Given the description of an element on the screen output the (x, y) to click on. 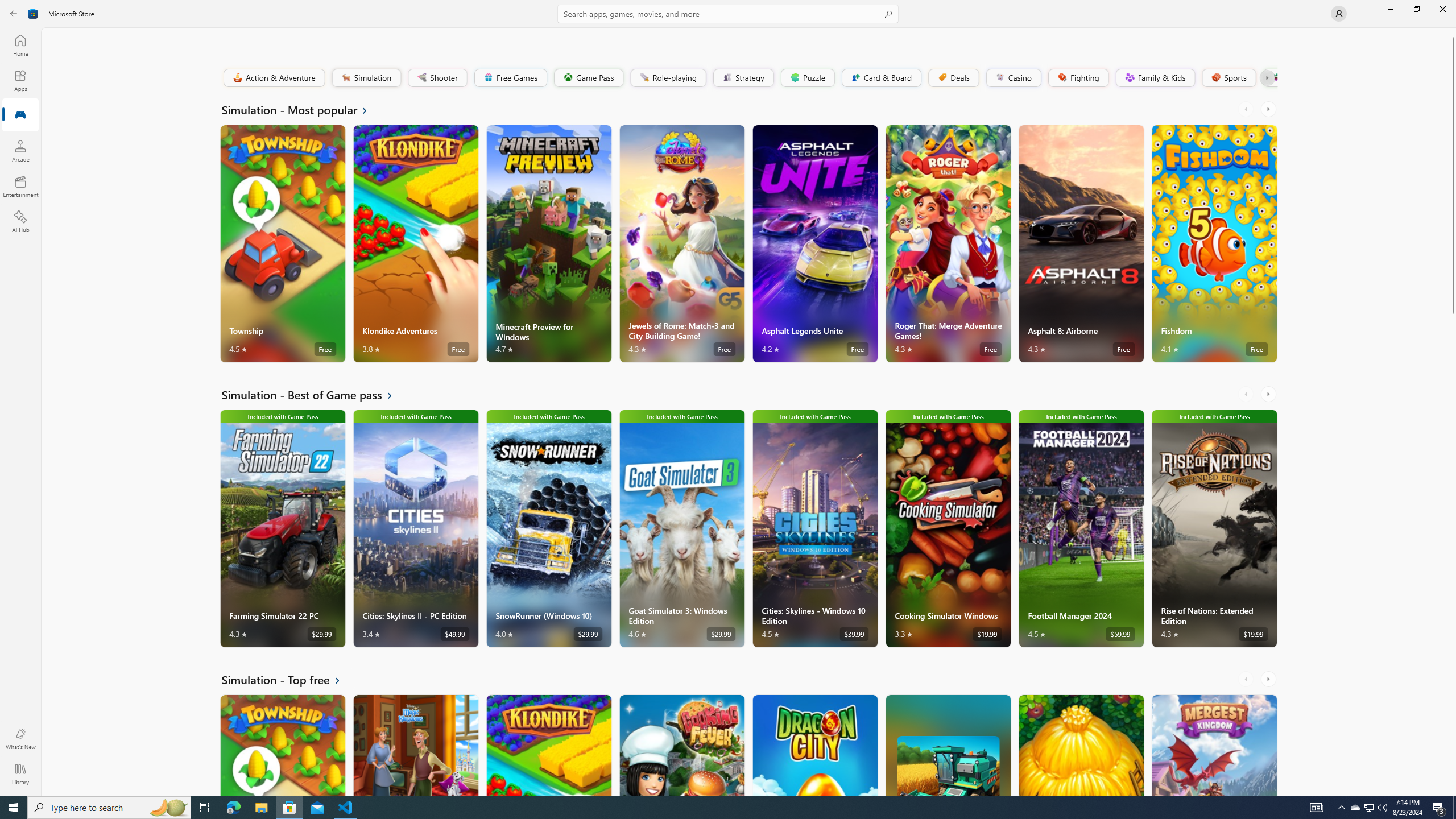
Library (20, 773)
Shooter (436, 77)
Entertainment (20, 185)
See all  Simulation - Best of Game pass (313, 394)
Arcade (20, 150)
See all  Simulation - Top free (287, 679)
Sports (1228, 77)
The Tribez. Average rating of 4.6 out of five stars. Free   (1080, 745)
AutomationID: LeftScrollButton (1246, 678)
AutomationID: NavigationControl (728, 398)
Free Games (509, 77)
Casino (1013, 77)
Platformer (1269, 77)
